Given the description of an element on the screen output the (x, y) to click on. 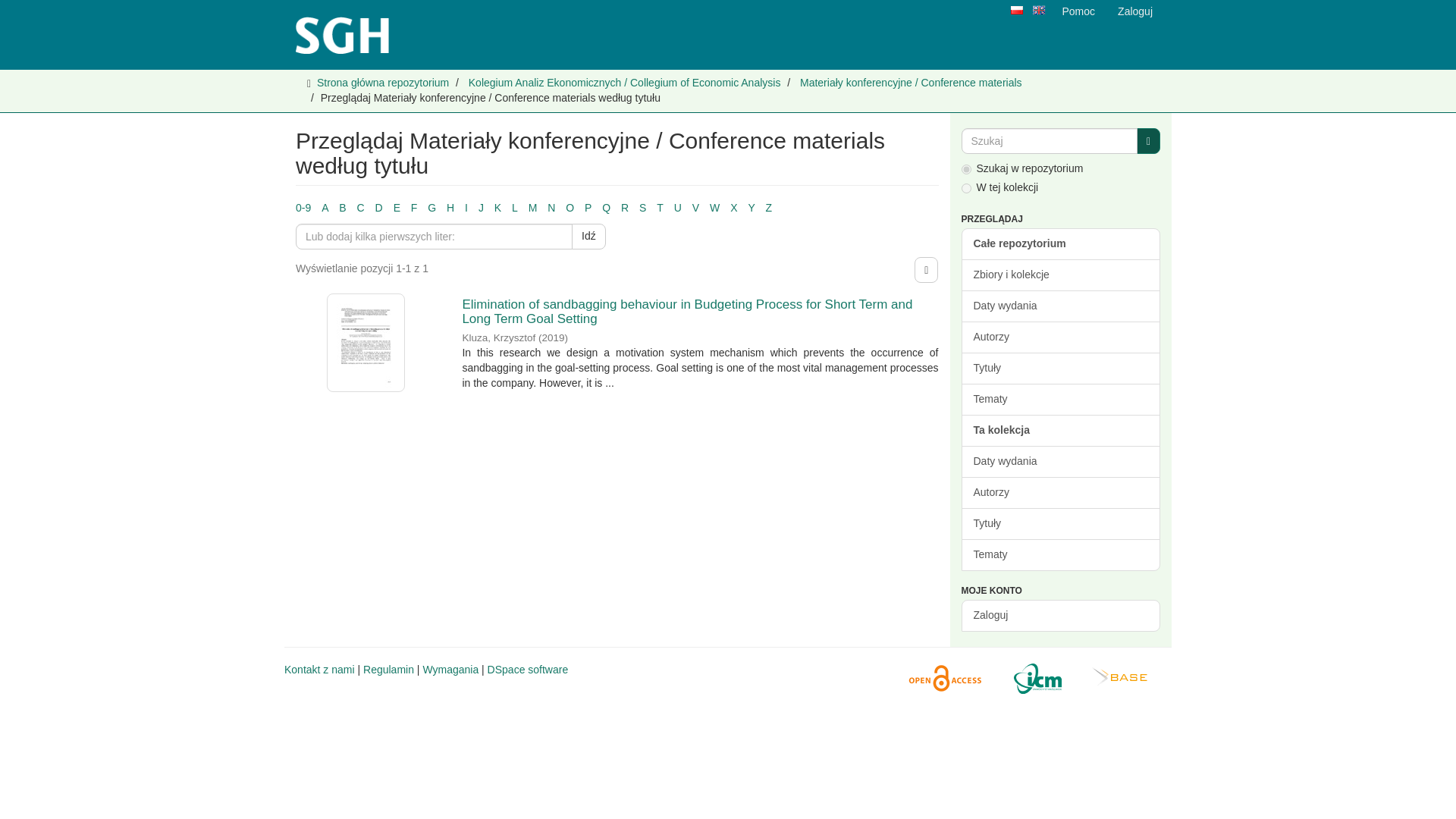
ICM UW (1033, 679)
Polski (1016, 9)
Polski (1016, 10)
BASE (1116, 679)
Angielski (1038, 10)
OPEN ACCESS (941, 679)
Pomoc (1078, 11)
0-9 (303, 207)
Zaloguj (1134, 11)
Angielski (1037, 9)
